Given the description of an element on the screen output the (x, y) to click on. 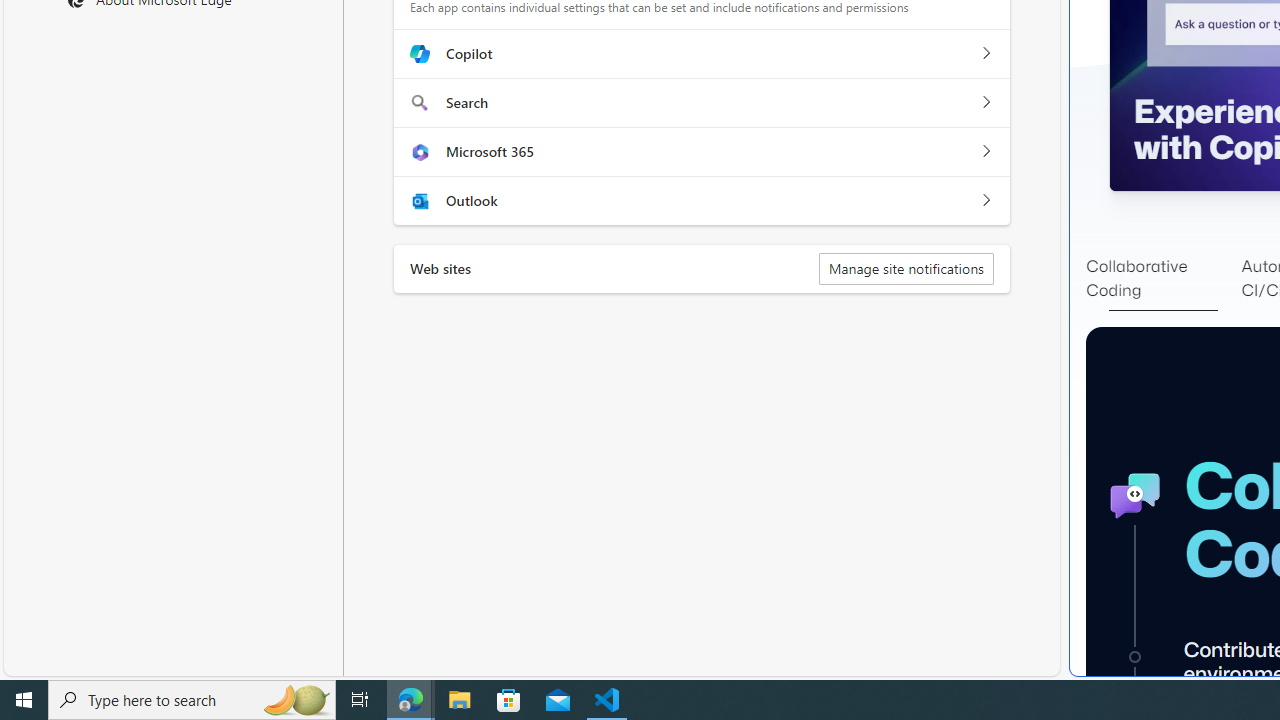
Manage site notifications (905, 268)
Copilot (985, 54)
Outlook (985, 200)
GitHub Collaboration Icon (1134, 496)
Collaborative Coding (1163, 278)
